Given the description of an element on the screen output the (x, y) to click on. 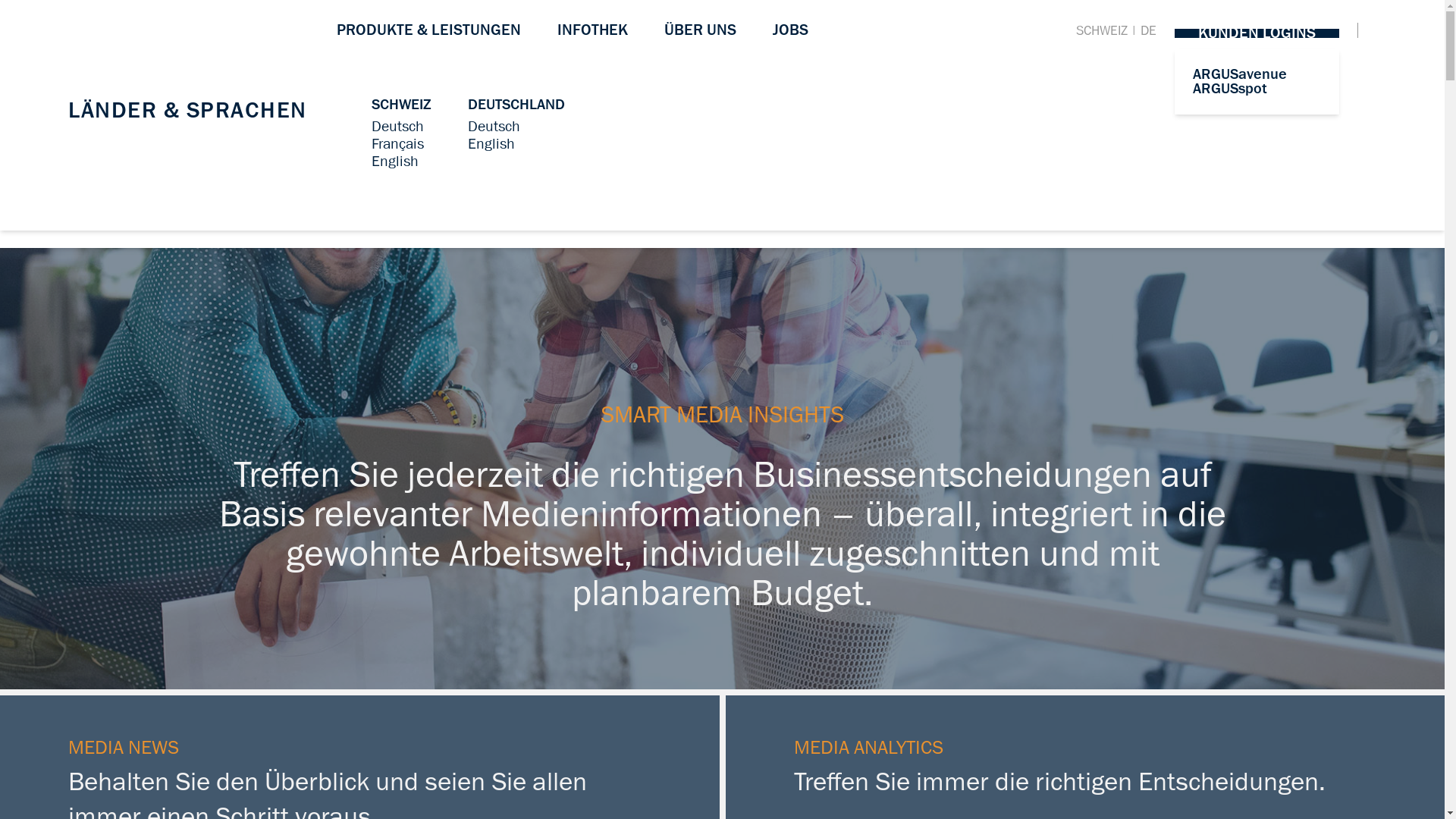
Media Engagement Element type: text (936, 104)
ARGUSspot Element type: text (1229, 88)
Media News Element type: text (410, 104)
English Element type: text (490, 143)
JOBS Element type: text (789, 29)
Medieninhalte analysieren Element type: text (733, 143)
Blog Element type: text (385, 104)
Medienspiegel redaktionell aufbereitet Element type: text (492, 178)
Standorte Element type: text (744, 104)
Medieninhalte verwalten & teilen Element type: text (474, 161)
Medienarbeit optimieren Element type: text (950, 126)
Glossar Element type: text (580, 104)
Medien beobachten Element type: text (434, 126)
Deutsch Element type: text (397, 126)
ARGUSavenue Element type: text (1239, 74)
Kontakt Element type: text (647, 104)
ARGUS Sprachmanufaktur Element type: text (1146, 126)
Team Element type: text (567, 104)
English Element type: text (394, 161)
KUNDEN LOGINS Element type: text (1256, 32)
Media Services Element type: text (1114, 104)
Deutsch Element type: text (493, 126)
Case studies Element type: text (478, 104)
Media Analytics Element type: text (701, 104)
